Given the description of an element on the screen output the (x, y) to click on. 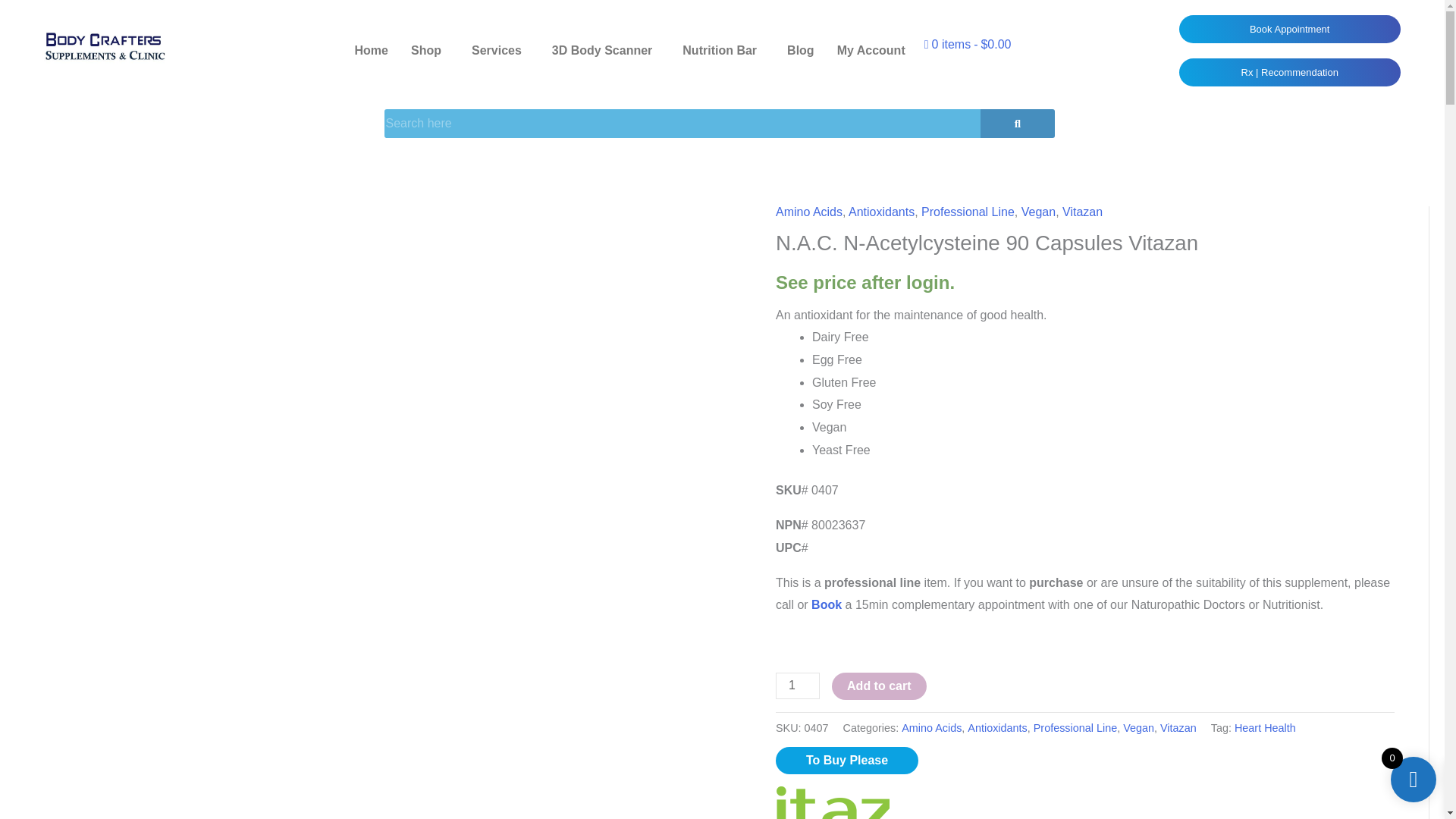
Search (681, 123)
Start shopping (967, 43)
Shop (429, 50)
Home (370, 50)
Services (500, 50)
Vitazan Professional (832, 802)
1 (797, 685)
